Given the description of an element on the screen output the (x, y) to click on. 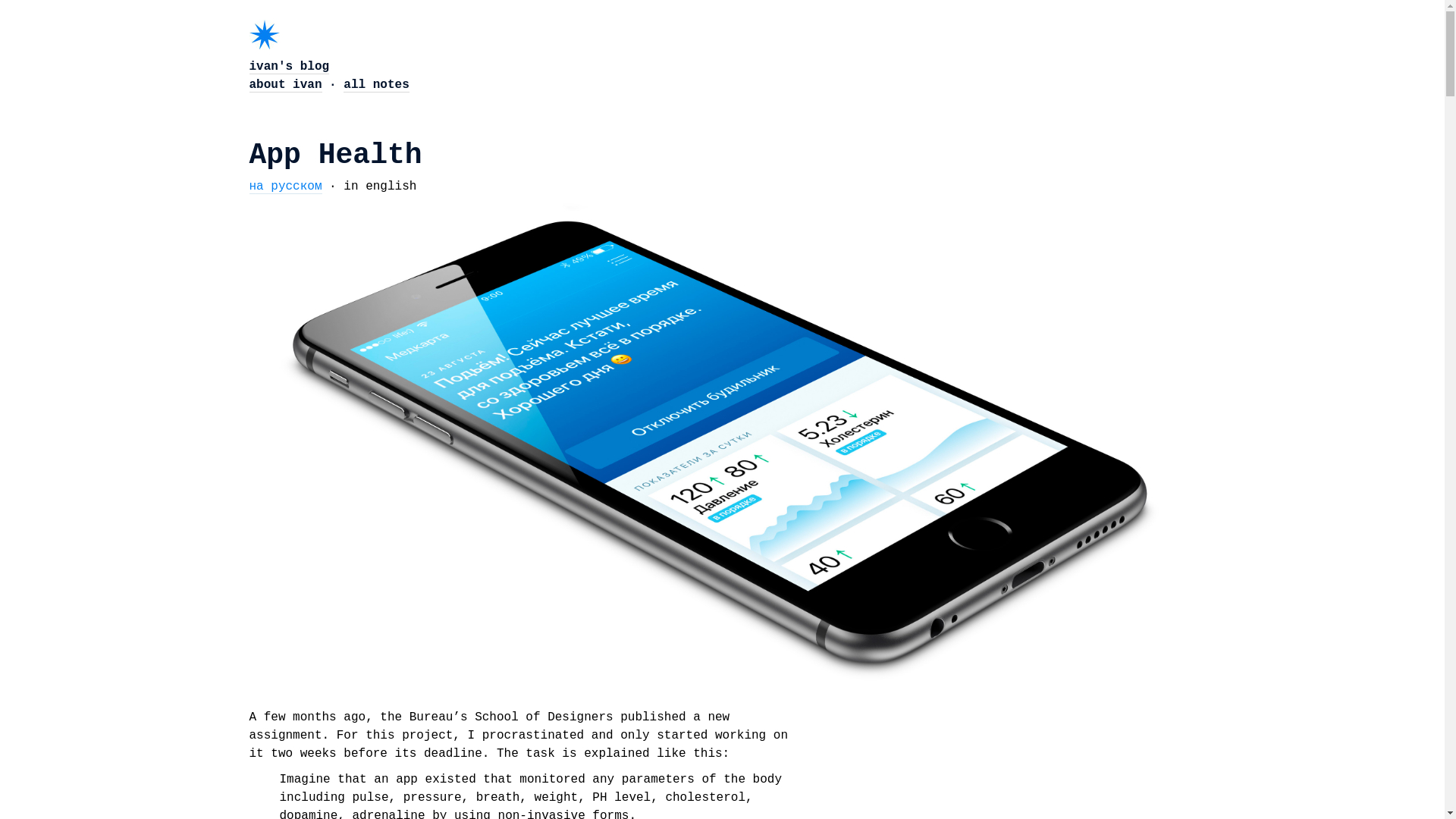
ivan's blog Element type: text (288, 66)
all notes Element type: text (375, 85)
about ivan Element type: text (284, 85)
